Given the description of an element on the screen output the (x, y) to click on. 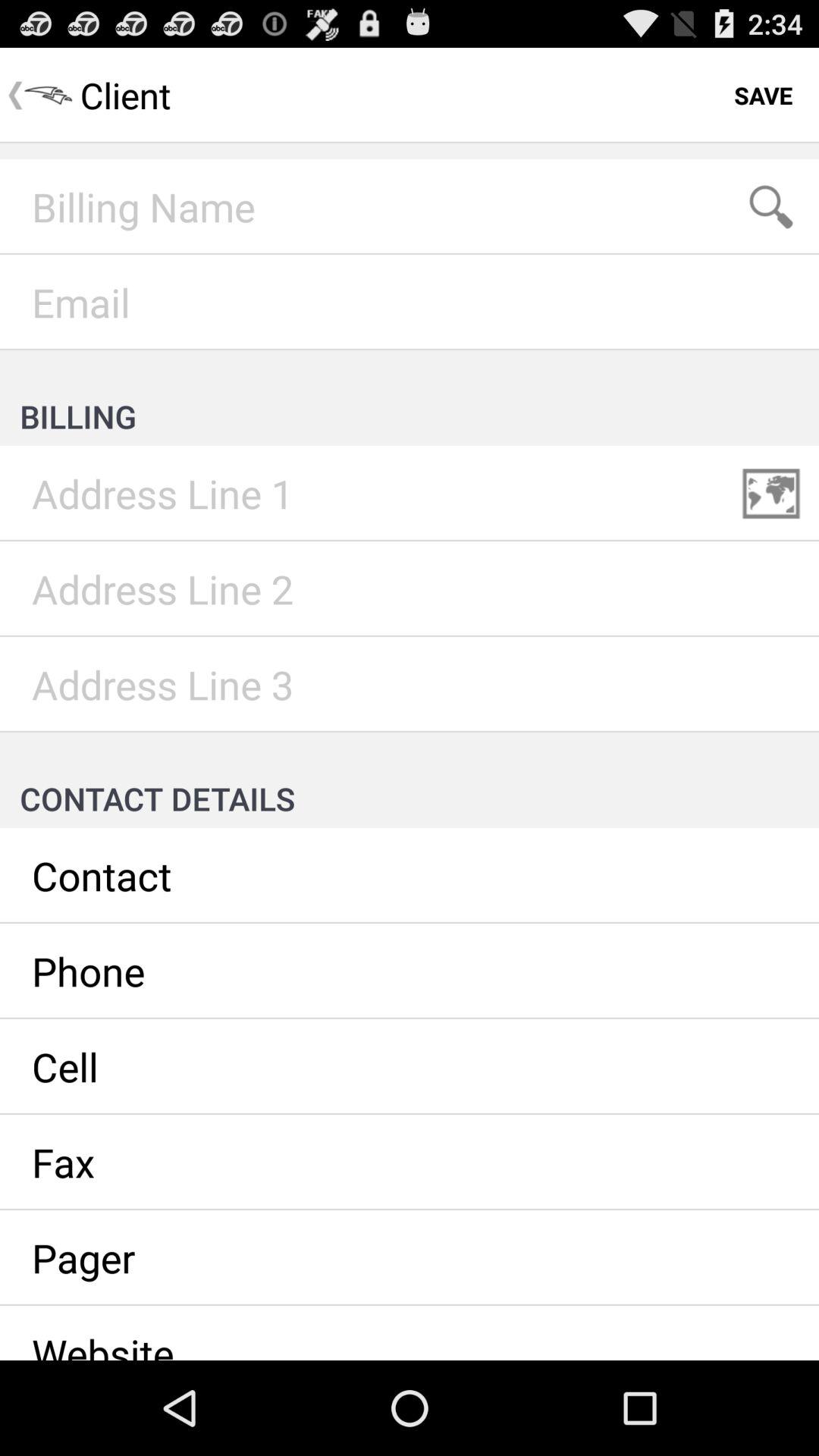
contact (409, 875)
